Given the description of an element on the screen output the (x, y) to click on. 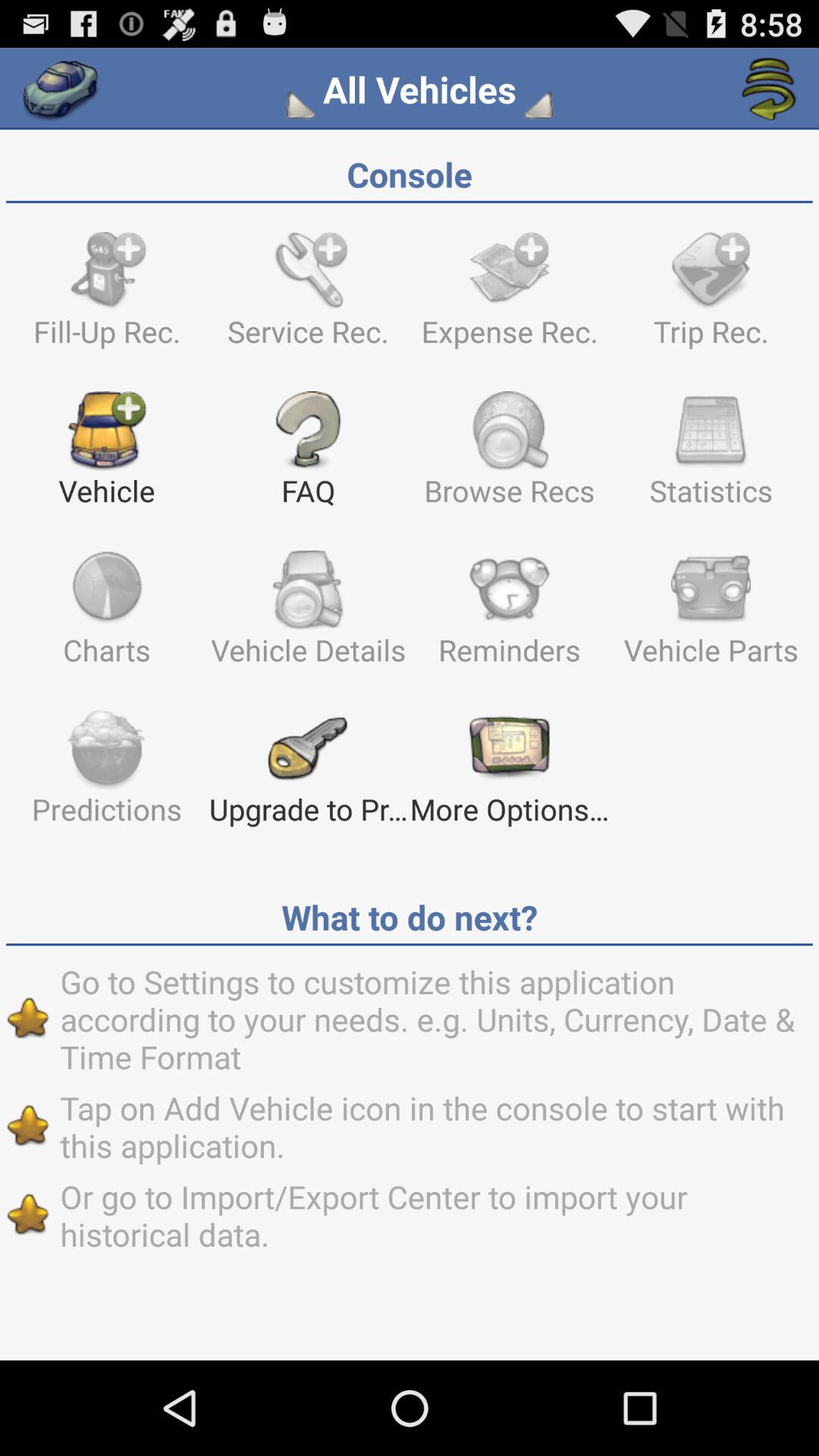
click the item to the left of more options... icon (307, 773)
